Given the description of an element on the screen output the (x, y) to click on. 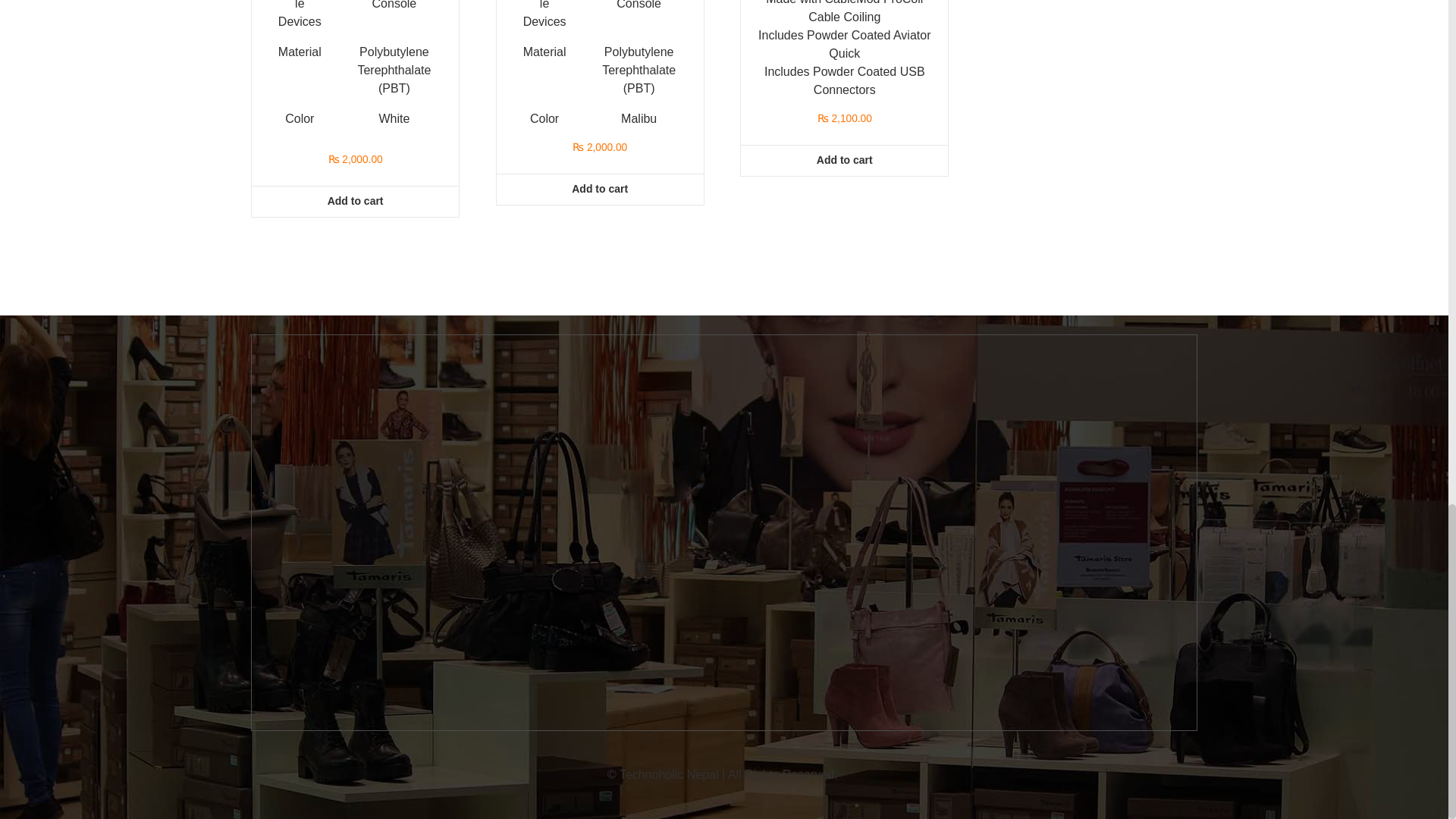
Add to cart (354, 201)
